Given the description of an element on the screen output the (x, y) to click on. 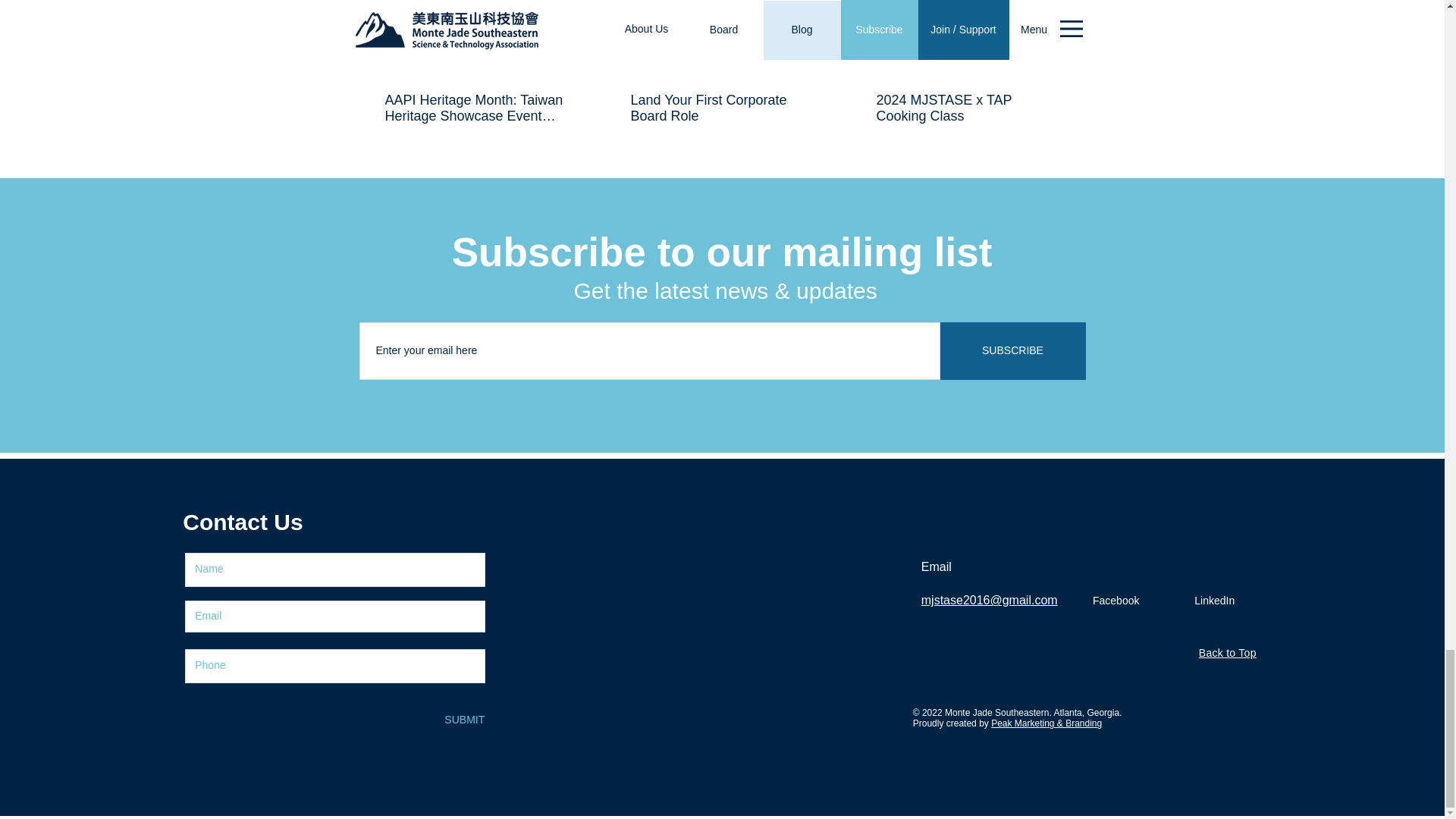
Facebook (1115, 601)
SUBMIT (463, 720)
LinkedIn (1214, 601)
Land Your First Corporate Board Role (721, 108)
Back to Top (1227, 653)
2024 MJSTASE x TAP Cooking Class (967, 108)
SUBSCRIBE (1013, 351)
